Given the description of an element on the screen output the (x, y) to click on. 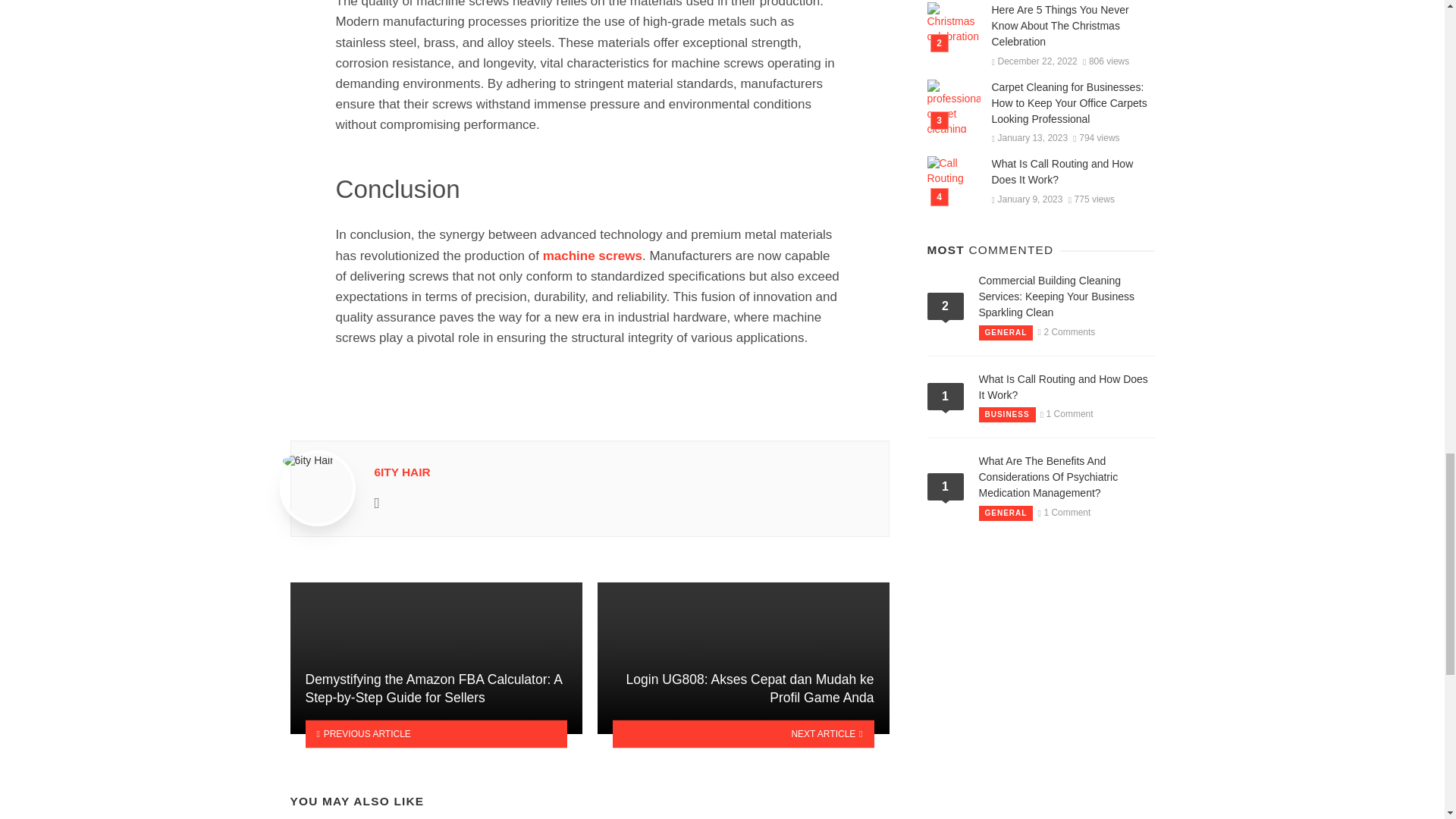
PREVIOUS ARTICLE (434, 733)
NEXT ARTICLE (742, 733)
6ITY HAIR (402, 472)
Posts by 6ity Hair (402, 472)
machine screws (592, 255)
